Given the description of an element on the screen output the (x, y) to click on. 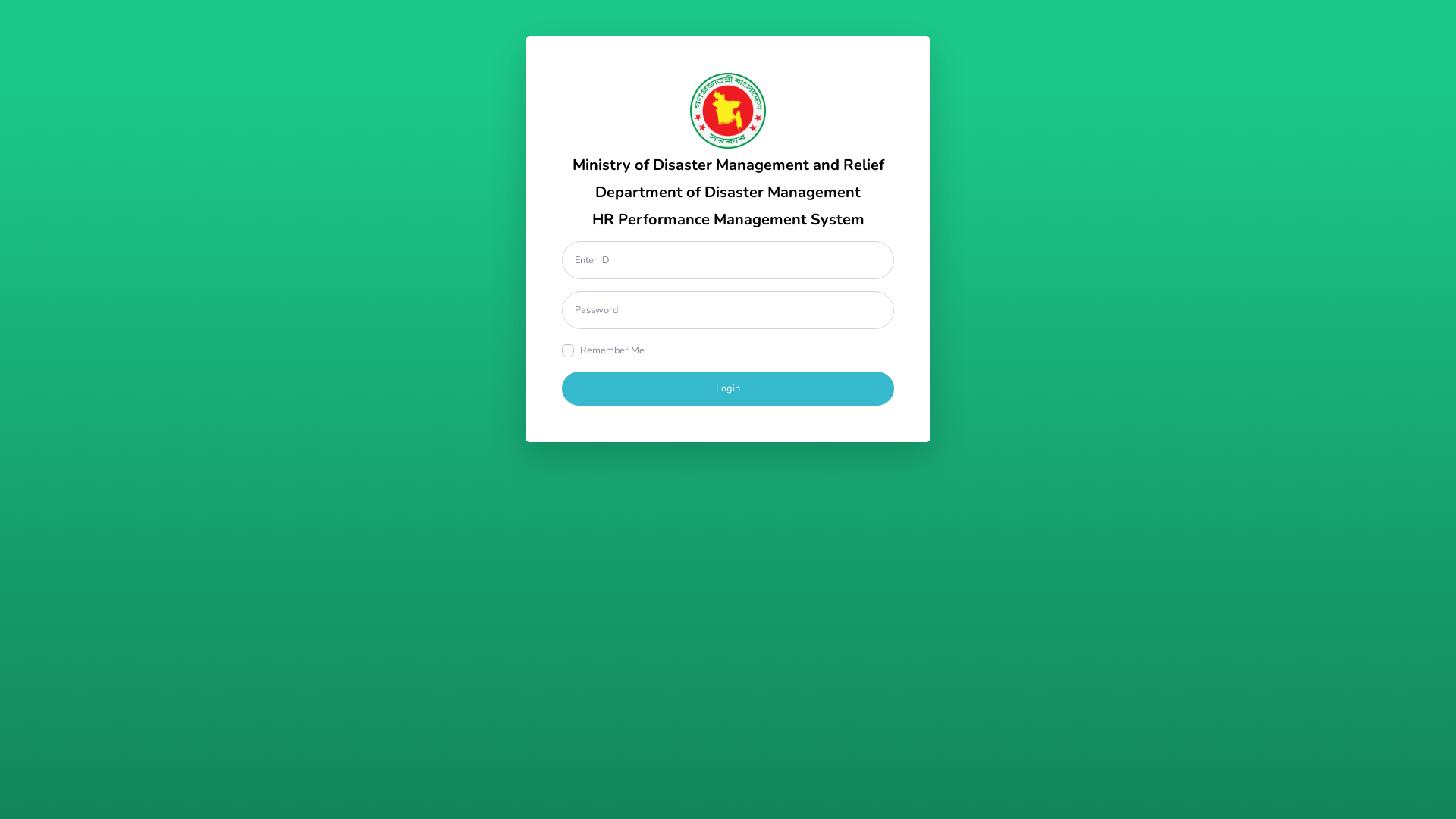
Login Element type: text (727, 388)
